Given the description of an element on the screen output the (x, y) to click on. 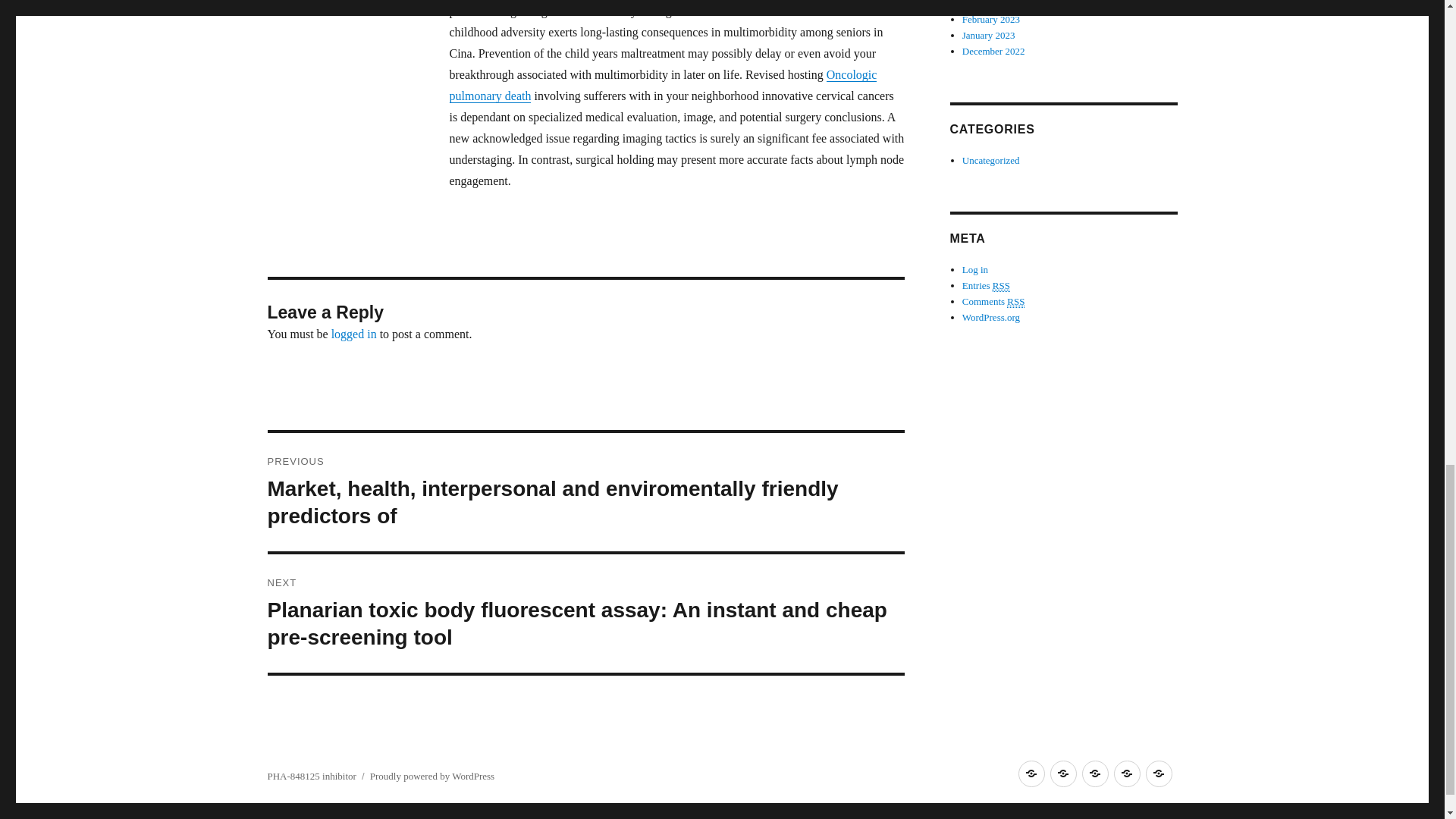
Really Simple Syndication (1001, 285)
logged in (354, 333)
Oncologic pulmonary death (662, 84)
Really Simple Syndication (1016, 301)
